Given the description of an element on the screen output the (x, y) to click on. 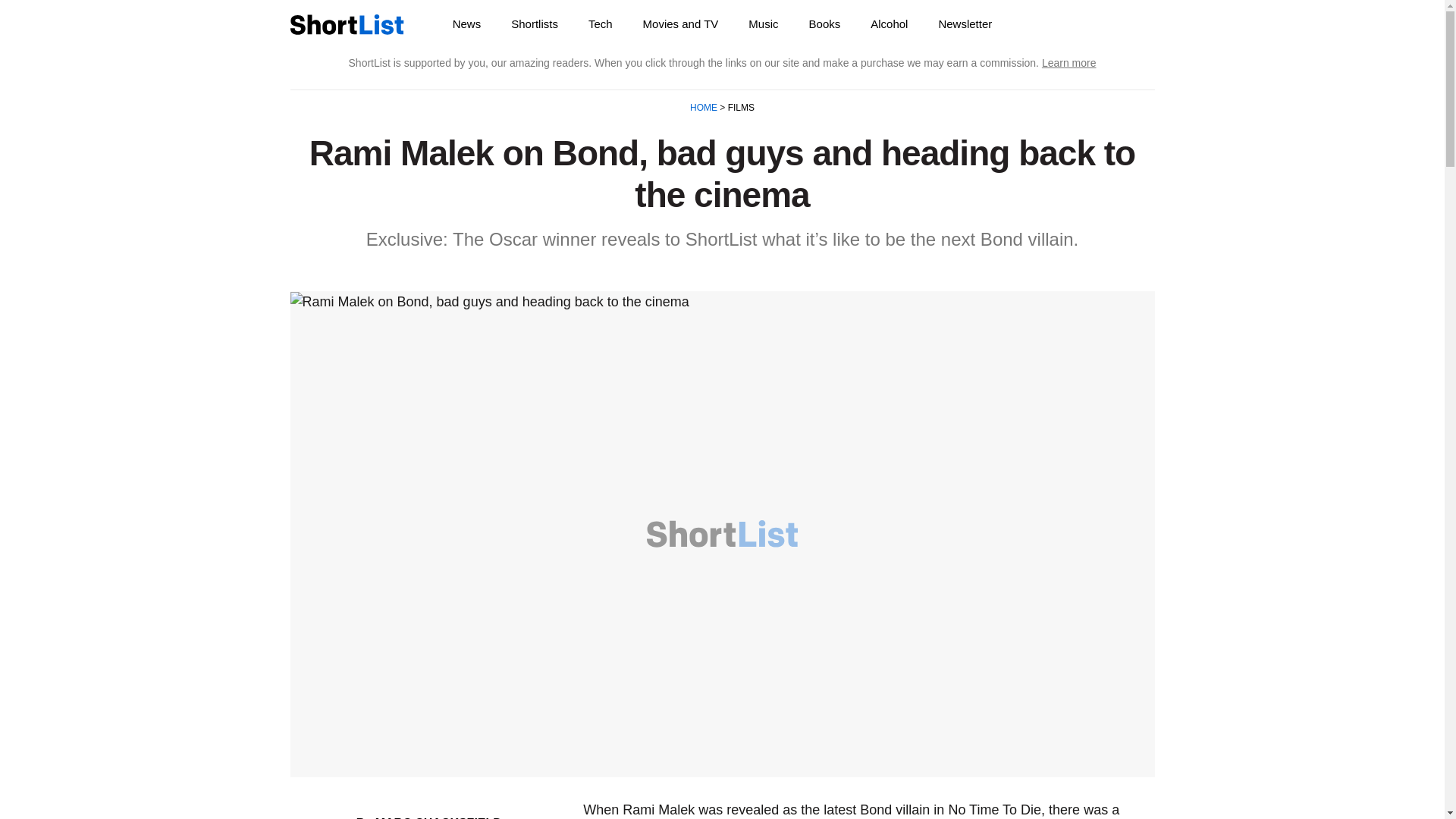
Books (824, 23)
Shortlists (534, 23)
Music (763, 23)
News (467, 23)
Learn more (1069, 62)
FILMS (739, 107)
Alcohol (889, 23)
Shortlist (346, 24)
Newsletter (965, 23)
Movies and TV (680, 23)
Tech (600, 23)
By MARC CHACKSFIELD (429, 817)
HOME (704, 107)
